Given the description of an element on the screen output the (x, y) to click on. 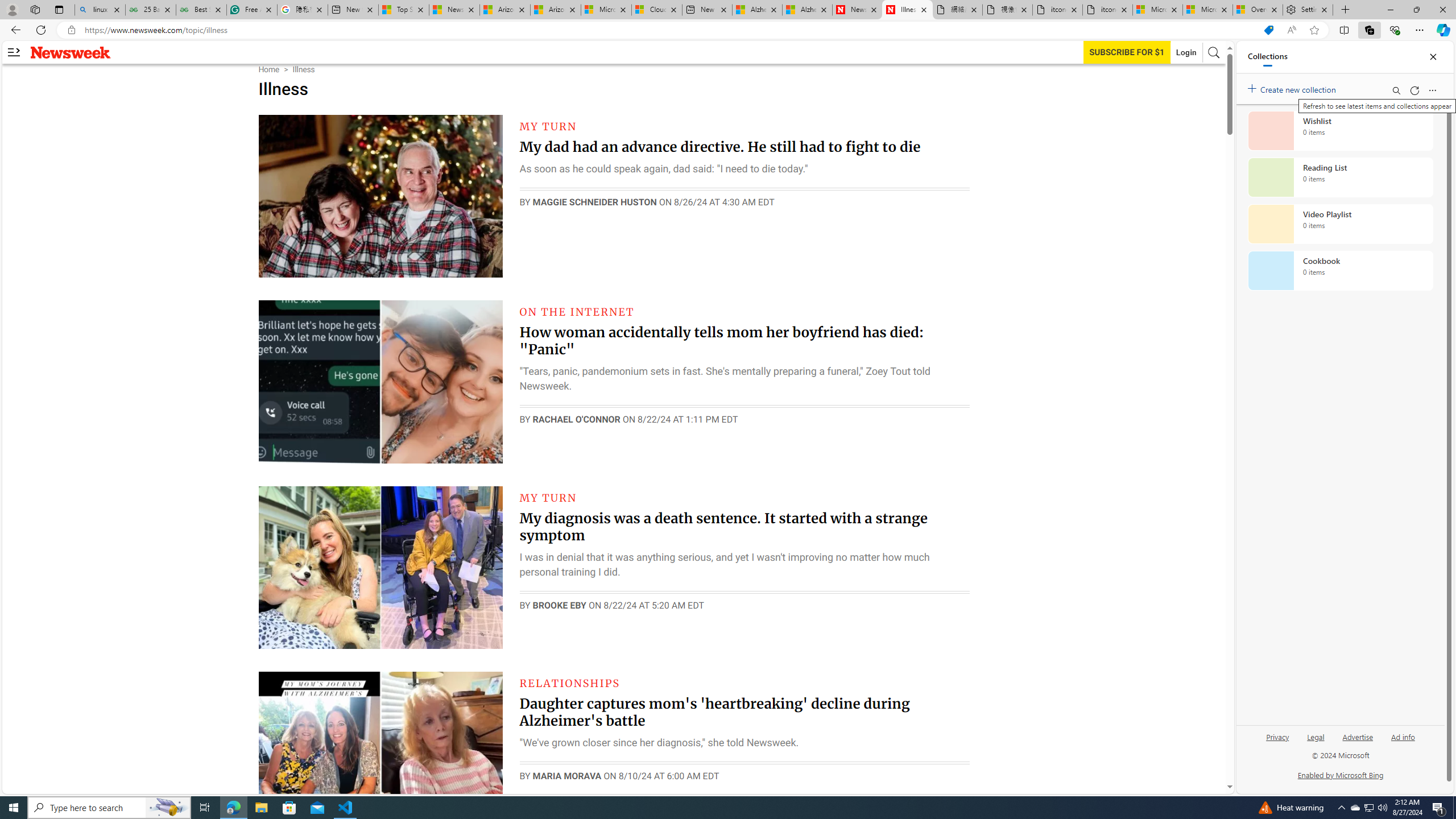
Cloud Computing Services | Microsoft Azure (656, 9)
Newsweek logo (70, 51)
Newsweek - News, Analysis, Politics, Business, Technology (856, 9)
ON THE INTERNET (576, 312)
Home (268, 68)
Free AI Writing Assistance for Students | Grammarly (251, 9)
Create new collection (1293, 87)
